Given the description of an element on the screen output the (x, y) to click on. 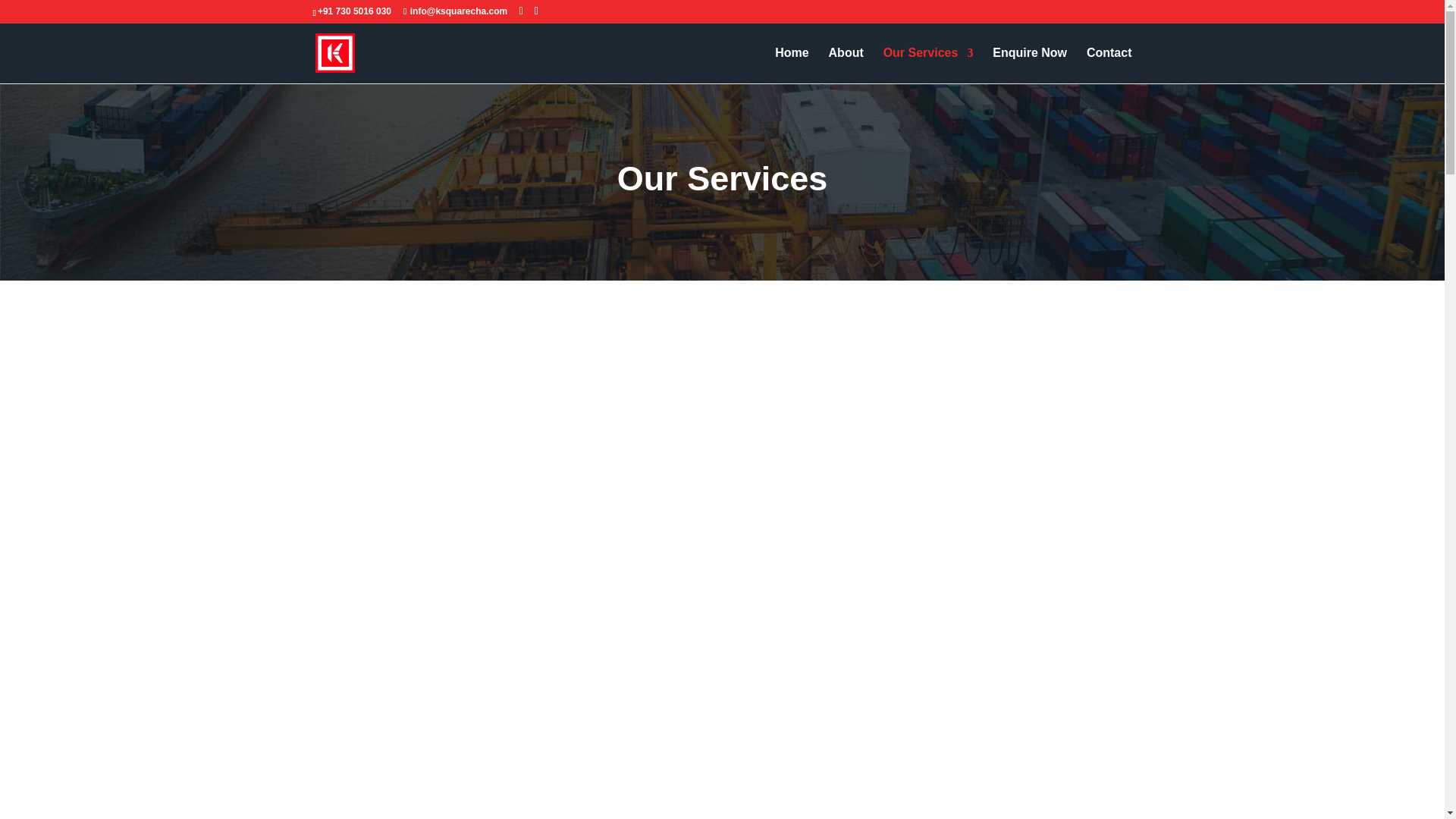
Our Services (928, 65)
Enquire Now (1029, 65)
Contact (1109, 65)
Home (791, 65)
About (845, 65)
